Given the description of an element on the screen output the (x, y) to click on. 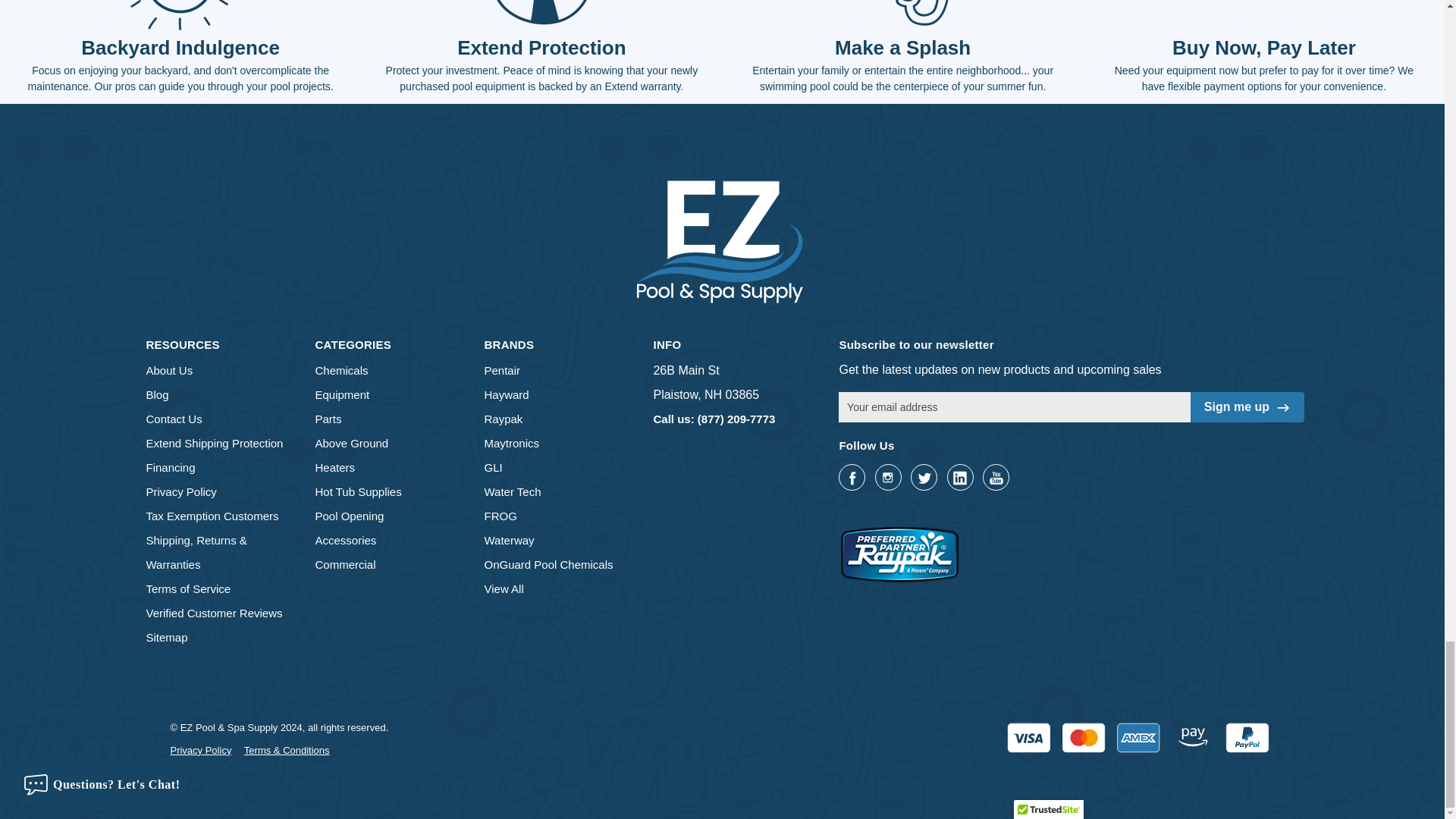
Sign me up (1236, 406)
